Given the description of an element on the screen output the (x, y) to click on. 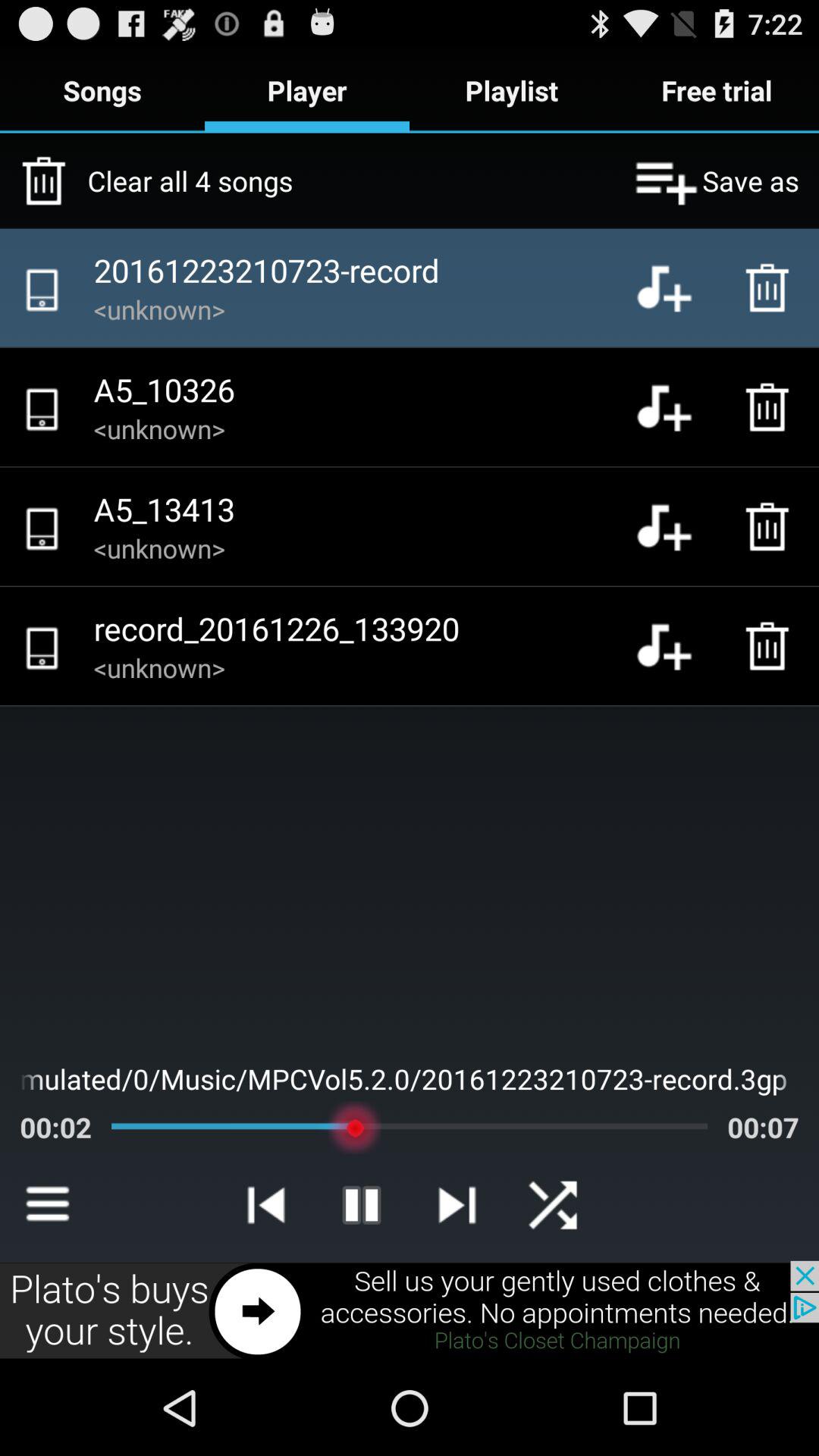
delete this song (771, 526)
